Given the description of an element on the screen output the (x, y) to click on. 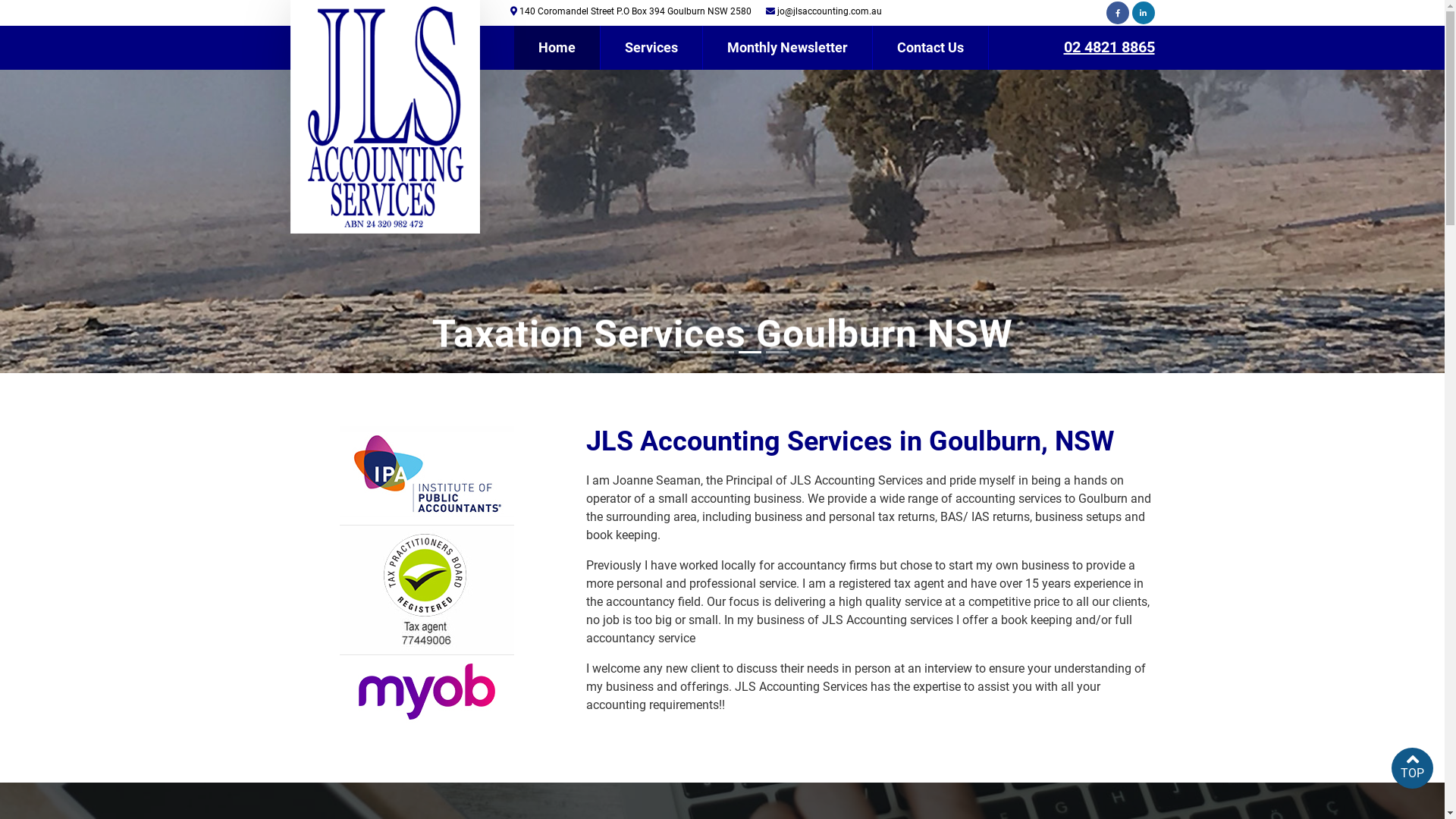
jo@jlsaccounting.com.au Element type: text (828, 11)
02 4821 8865 Element type: text (1108, 46)
Home Element type: text (557, 47)
Contact Us Element type: text (930, 47)
Services Element type: text (651, 47)
Monthly Newsletter Element type: text (787, 47)
